Given the description of an element on the screen output the (x, y) to click on. 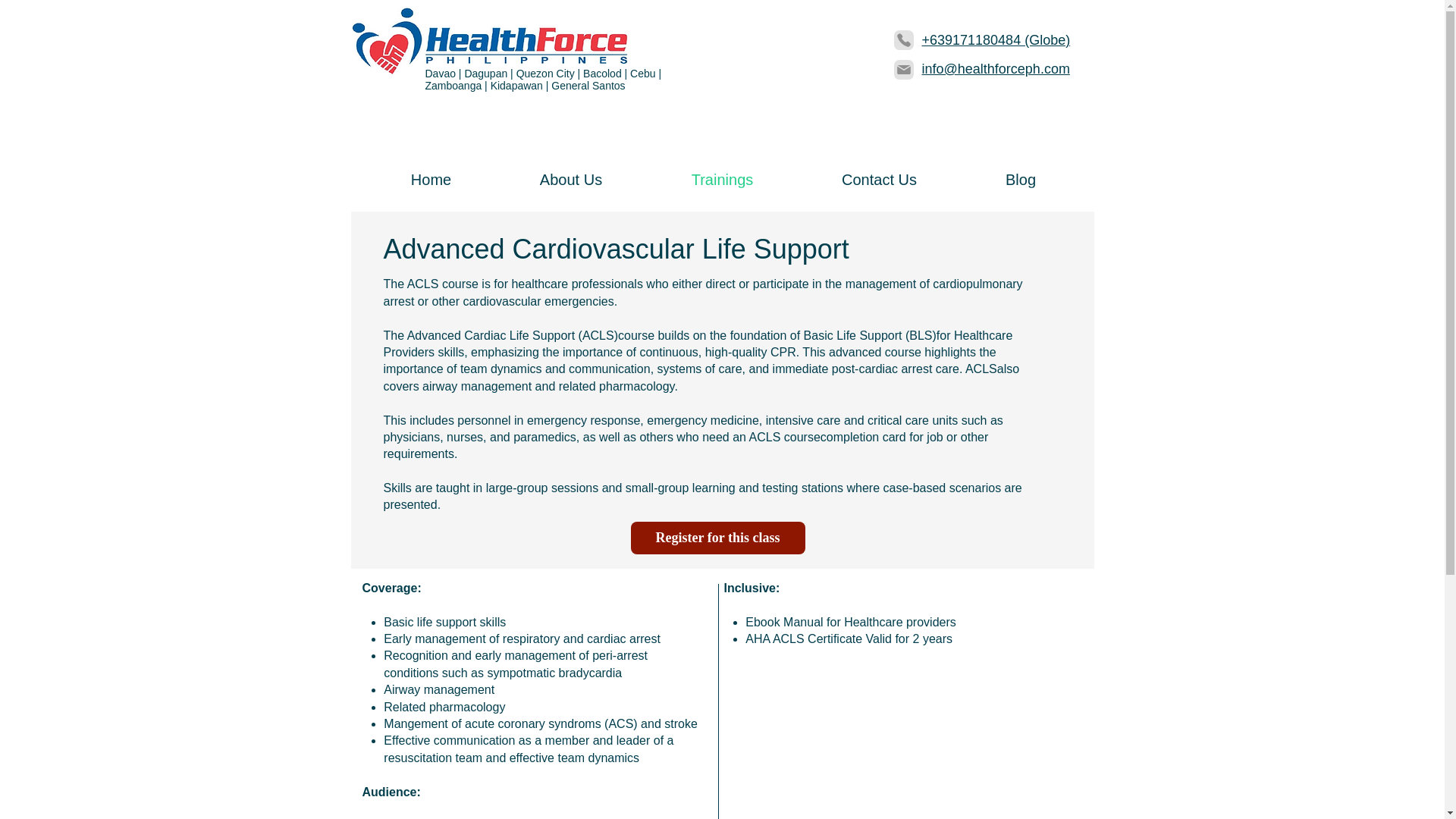
Register for this class (717, 537)
Trainings (722, 179)
About Us (570, 179)
Contact Us (879, 179)
Blog (1020, 179)
Home (430, 179)
